Given the description of an element on the screen output the (x, y) to click on. 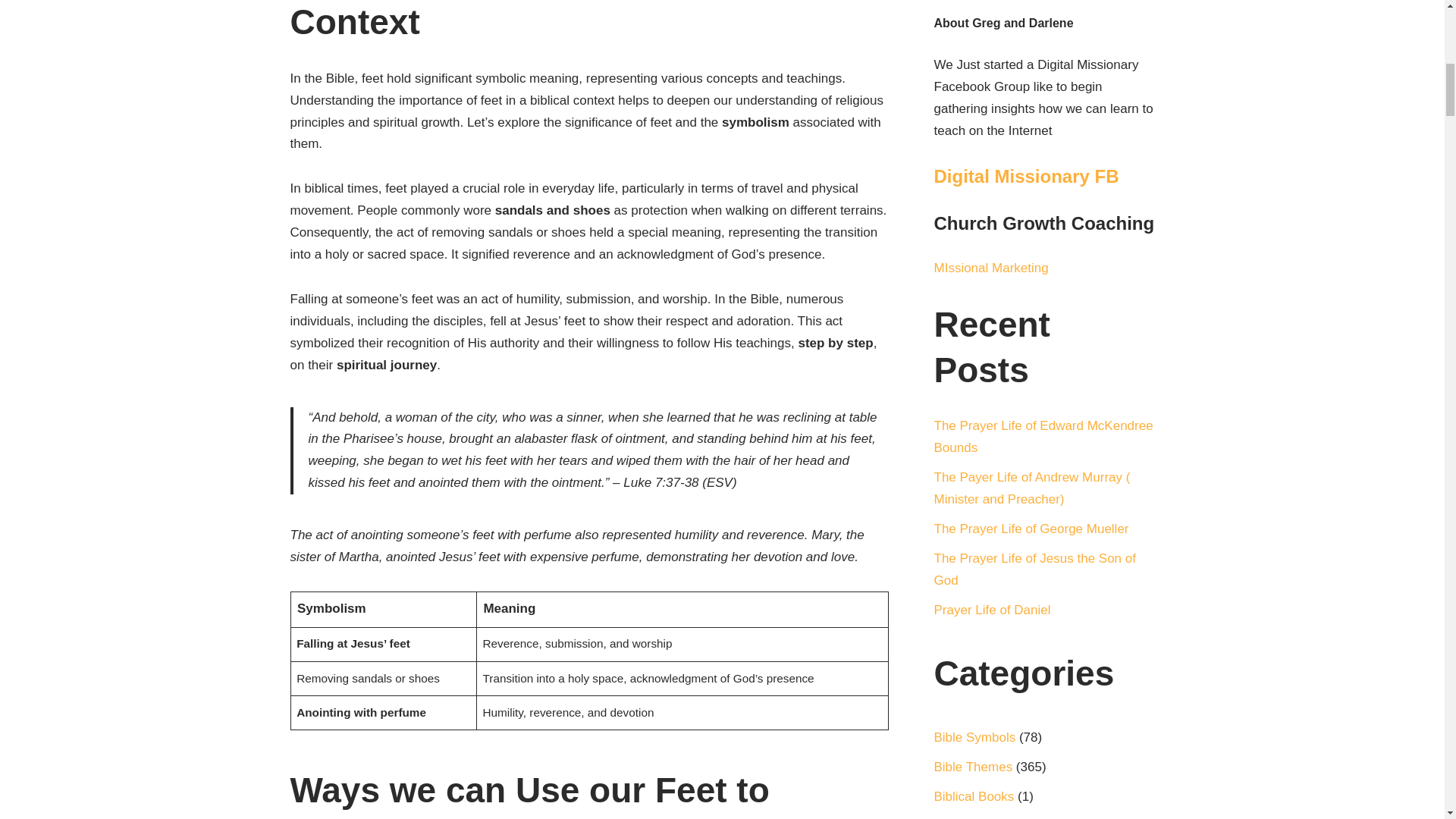
The Prayer Life of Jesus the Son of God (1034, 569)
MIssional Marketing (991, 268)
The Prayer Life of George Mueller (1031, 528)
Prayer Life of Daniel (992, 609)
Digital Missionary FB (1026, 176)
The Prayer Life of Edward McKendree Bounds (1043, 436)
